Given the description of an element on the screen output the (x, y) to click on. 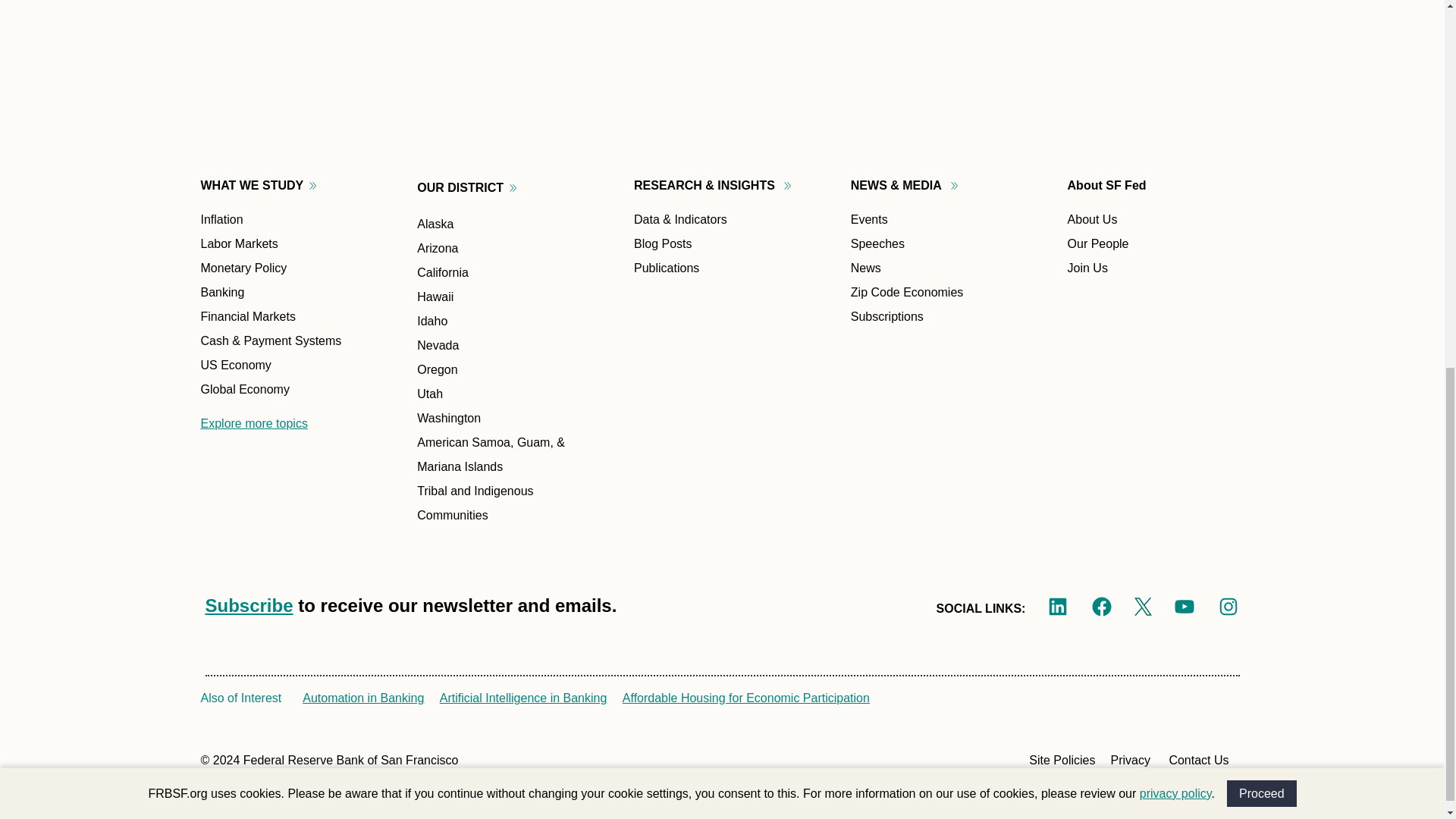
Proceed (1262, 119)
privacy policy (1175, 119)
